Given the description of an element on the screen output the (x, y) to click on. 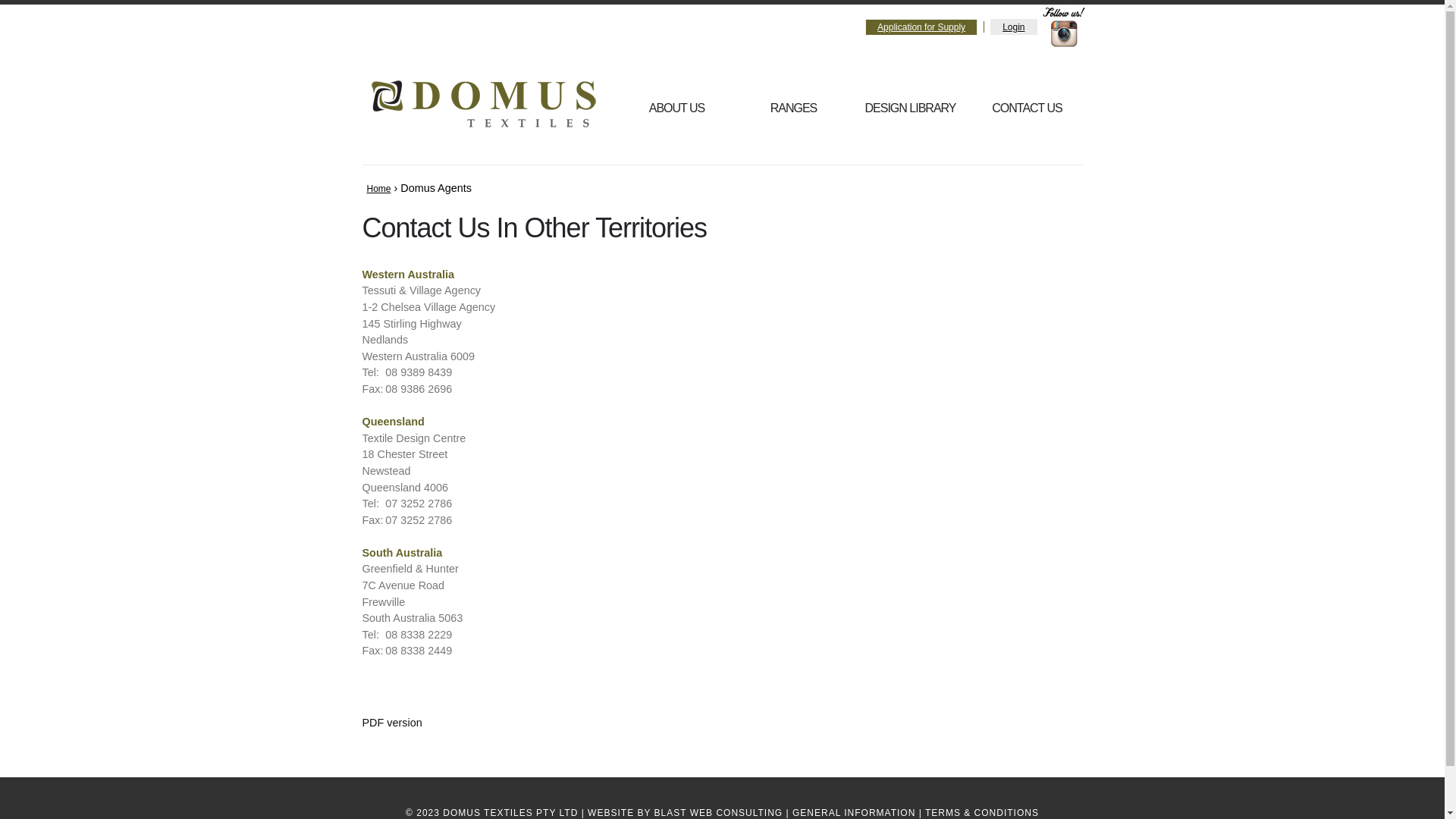
Login Element type: text (1013, 26)
Application for Supply
(active tab) Element type: text (921, 26)
CONTACT US Element type: text (1027, 108)
RANGES Element type: text (793, 108)
TERMS & CONDITIONS Element type: text (981, 812)
BLAST WEB CONSULTING Element type: text (718, 812)
PDF version Element type: text (392, 722)
DESIGN LIBRARY Element type: text (910, 108)
ABOUT US Element type: text (676, 108)
GENERAL INFORMATION Element type: text (853, 812)
Home Element type: hover (483, 103)
2023 Element type: text (427, 812)
Home Element type: text (377, 188)
